Given the description of an element on the screen output the (x, y) to click on. 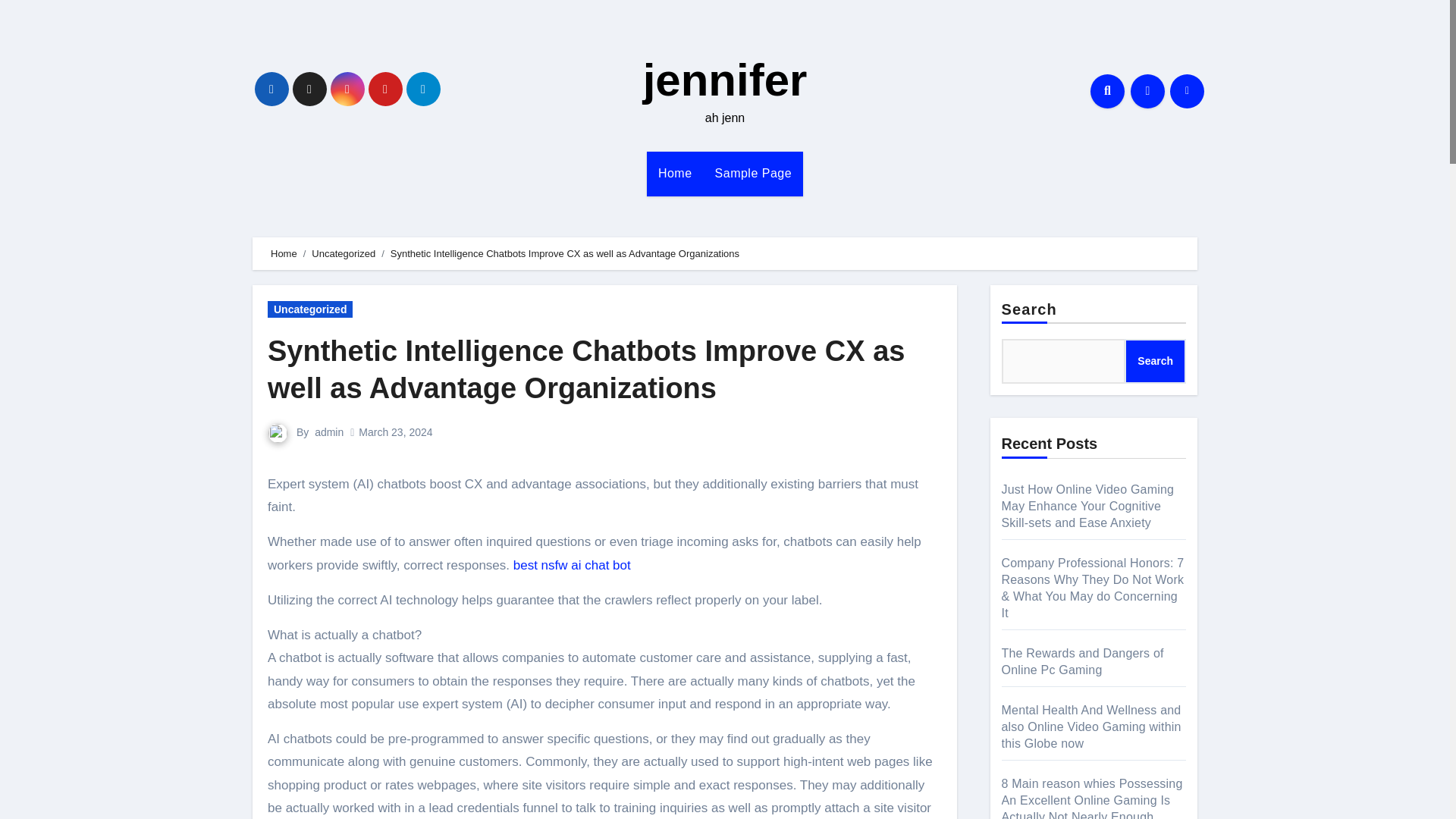
Uncategorized (343, 253)
Home (674, 173)
admin (328, 431)
Home (283, 253)
Home (674, 173)
March 23, 2024 (395, 431)
Uncategorized (309, 309)
jennifer (725, 79)
best nsfw ai chat bot (571, 564)
Sample Page (753, 173)
